Given the description of an element on the screen output the (x, y) to click on. 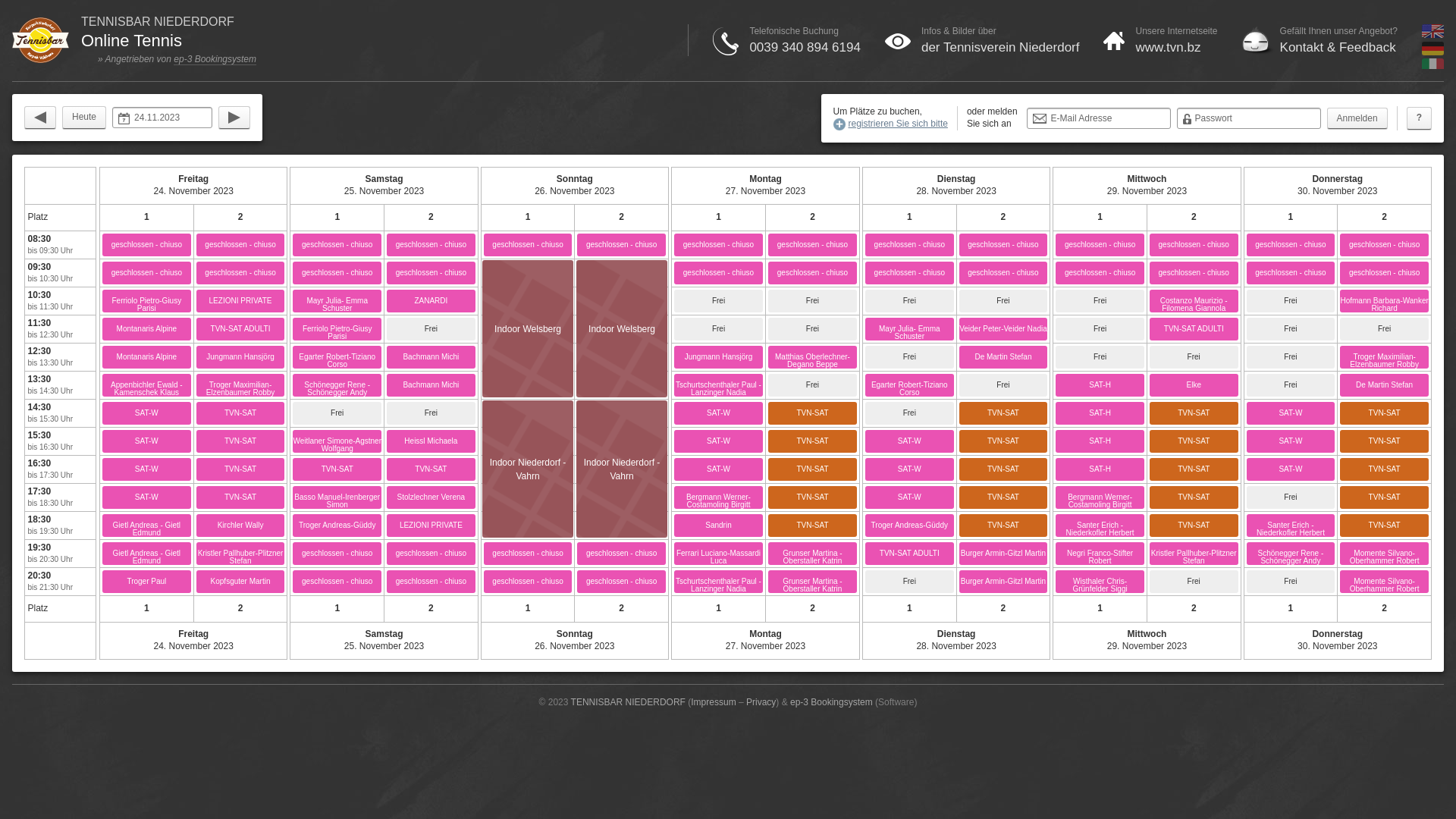
Bachmann Michi Element type: text (430, 384)
ep-3 Bookingsystem Element type: text (831, 701)
geschlossen - chiuso Element type: text (1003, 244)
Indoor Niederdorf - Vahrn Element type: text (527, 469)
TVN-SAT Element type: text (1383, 412)
Stolzlechner Verena Element type: text (430, 497)
Indoor Welsberg Element type: text (621, 356)
SAT-H Element type: text (1099, 384)
Frei Element type: text (1383, 328)
Heissl Michaela Element type: text (430, 440)
TVN-SAT Element type: text (1003, 469)
TVN-SAT Element type: text (1383, 525)
Bergmann Werner-Costamoling Birgitt Element type: text (1099, 497)
Indoor Welsberg Element type: text (527, 272)
geschlossen - chiuso Element type: text (1290, 244)
Indoor Welsberg Element type: text (621, 328)
Sandrin Element type: text (718, 525)
  Element type: text (40, 117)
Frei Element type: text (1290, 356)
Frei Element type: text (909, 412)
TVN-SAT Element type: text (812, 440)
Ferriolo Pietro-Giusy Parisi Element type: text (146, 300)
Indoor Welsberg Element type: text (527, 328)
Heute Element type: text (84, 117)
TVN-SAT Element type: text (1383, 440)
geschlossen - chiuso Element type: text (718, 244)
Mayr Julia- Emma Schuster Element type: text (909, 328)
Frei Element type: text (1290, 497)
TVN-SAT Element type: text (812, 497)
Indoor Welsberg Element type: text (621, 384)
Frei Element type: text (909, 356)
TVN-SAT Element type: text (812, 412)
Frei Element type: text (909, 581)
TENNISBAR NIEDERDORF Element type: text (628, 701)
geschlossen - chiuso Element type: text (240, 272)
Indoor Niederdorf - Vahrn Element type: text (621, 525)
Ferrari Luciano-Massardi Luca Element type: text (718, 553)
geschlossen - chiuso Element type: text (1193, 272)
Frei Element type: text (1290, 384)
Frei Element type: text (812, 300)
Frei Element type: text (1290, 581)
TVN-SAT Element type: text (240, 440)
Egarter Robert-Tiziano Corso Element type: text (336, 356)
TVN-SAT Element type: text (1383, 497)
registrieren Sie sich bitte Element type: text (889, 124)
TVN-SAT Element type: text (1003, 525)
TVN-SAT ADULTI Element type: text (1193, 328)
Indoor Welsberg Element type: text (621, 300)
SAT-H Element type: text (1099, 440)
geschlossen - chiuso Element type: text (240, 244)
geschlossen - chiuso Element type: text (527, 581)
geschlossen - chiuso Element type: text (909, 244)
geschlossen - chiuso Element type: text (430, 244)
Frei Element type: text (1290, 300)
Bergmann Werner-Costamoling Birgitt Element type: text (718, 497)
Frei Element type: text (430, 328)
De Martin Stefan Element type: text (1383, 384)
Basso Manuel-Irenberger Simon Element type: text (336, 497)
  Element type: text (234, 117)
TVN-SAT Element type: text (1193, 497)
Appenbichler Ewald - Kamenschek Klaus Element type: text (146, 384)
Tschurtschenthaler Paul - Lanzinger Nadia Element type: text (718, 384)
SAT-W Element type: text (1290, 440)
Troger Maximilian-Elzenbaumer Robby Element type: text (1383, 356)
Gietl Andreas - Gietl Edmund Element type: text (146, 553)
SAT-W Element type: text (718, 412)
TVN-SAT Element type: text (1193, 525)
ep-3 Bookingsystem Element type: text (214, 59)
TVN-SAT Element type: text (1383, 469)
Kristler Pallhuber-Plitzner Stefan Element type: text (240, 553)
Frei Element type: text (1003, 384)
Kristler Pallhuber-Plitzner Stefan Element type: text (1193, 553)
Frei Element type: text (812, 384)
TVN-SAT Element type: text (240, 497)
Frei Element type: text (718, 300)
Indoor Niederdorf - Vahrn Element type: text (527, 468)
geschlossen - chiuso Element type: text (1099, 272)
geschlossen - chiuso Element type: text (812, 244)
Frei Element type: text (1099, 356)
Frei Element type: text (1003, 300)
geschlossen - chiuso Element type: text (527, 553)
Elke Element type: text (1193, 384)
SAT-W Element type: text (1290, 412)
Indoor Niederdorf - Vahrn Element type: text (527, 440)
Negri Franco-Stifter Robert Element type: text (1099, 553)
TVN-SAT ADULTI Element type: text (909, 553)
TVN-SAT Element type: text (240, 469)
geschlossen - chiuso Element type: text (1099, 244)
SAT-W Element type: text (146, 440)
TVN-SAT Element type: text (1193, 469)
SAT-H Element type: text (1099, 412)
Troger Maximilian-Elzenbaumer Robby Element type: text (240, 384)
Anzeigen Element type: text (28, 10)
TVN-SAT Element type: text (1193, 440)
Frei Element type: text (1099, 328)
Frei Element type: text (1290, 328)
Indoor Niederdorf - Vahrn Element type: text (621, 468)
Santer Erich - Niederkofler Herbert Element type: text (1290, 525)
Frei Element type: text (909, 300)
De Martin Stefan Element type: text (1003, 356)
Indoor Niederdorf - Vahrn Element type: text (527, 497)
Indoor Welsberg Element type: text (527, 384)
geschlossen - chiuso Element type: text (1290, 272)
Kopfsguter Martin Element type: text (240, 581)
Frei Element type: text (718, 328)
Frei Element type: text (1193, 356)
SAT-H Element type: text (1099, 469)
TVN-SAT Element type: text (1003, 497)
geschlossen - chiuso Element type: text (1193, 244)
Indoor Niederdorf - Vahrn Element type: text (621, 469)
SAT-W Element type: text (146, 469)
Frei Element type: text (336, 412)
TVN-SAT Element type: text (336, 469)
Kirchler Wally Element type: text (240, 525)
TVN-SAT Element type: text (430, 469)
Indoor Niederdorf - Vahrn Element type: text (621, 440)
SAT-W Element type: text (718, 440)
Momente Silvano-Oberhammer Robert Element type: text (1383, 553)
Gietl Andreas - Gietl Edmund Element type: text (146, 525)
www.tvn.bz Element type: text (1167, 47)
geschlossen - chiuso Element type: text (1383, 272)
geschlossen - chiuso Element type: text (336, 553)
SAT-W Element type: text (909, 497)
geschlossen - chiuso Element type: text (336, 272)
geschlossen - chiuso Element type: text (909, 272)
SAT-W Element type: text (909, 469)
0039 340 894 6194 Element type: text (804, 47)
Frei Element type: text (812, 328)
Privacy Element type: text (760, 701)
LEZIONI PRIVATE Element type: text (240, 300)
Indoor Welsberg Element type: text (527, 356)
Troger Paul Element type: text (146, 581)
Impressum Element type: text (712, 701)
Montanaris Alpine Element type: text (146, 356)
? Element type: text (1418, 117)
Grunser Martina - Oberstaller Katrin Element type: text (812, 581)
Indoor Niederdorf - Vahrn Element type: text (621, 497)
SAT-W Element type: text (146, 412)
ZANARDI Element type: text (430, 300)
SAT-W Element type: text (718, 469)
TVN-SAT Element type: text (812, 525)
Tschurtschenthaler Paul - Lanzinger Nadia Element type: text (718, 581)
geschlossen - chiuso Element type: text (146, 244)
geschlossen - chiuso Element type: text (1383, 244)
Bachmann Michi Element type: text (430, 356)
Indoor Niederdorf - Vahrn Element type: text (527, 525)
Burger Armin-Gitzl Martin Element type: text (1003, 581)
Indoor Niederdorf - Vahrn Element type: text (621, 412)
Grunser Martina - Oberstaller Katrin Element type: text (812, 553)
SAT-W Element type: text (909, 440)
TVN-SAT Element type: text (1003, 440)
Hofmann Barbara-Wanker Richard Element type: text (1383, 300)
Momente Silvano-Oberhammer Robert Element type: text (1383, 581)
Frei Element type: text (1193, 581)
TVN-SAT Element type: text (812, 469)
English Element type: hover (1432, 34)
geschlossen - chiuso Element type: text (621, 581)
geschlossen - chiuso Element type: text (430, 581)
Kontakt & Feedback Element type: text (1338, 47)
Weitlaner Simone-Agstner Wolfgang Element type: text (336, 440)
geschlossen - chiuso Element type: text (718, 272)
geschlossen - chiuso Element type: text (527, 244)
TVN-SAT Element type: text (240, 412)
Santer Erich - Niederkofler Herbert Element type: text (1099, 525)
geschlossen - chiuso Element type: text (336, 244)
geschlossen - chiuso Element type: text (621, 244)
geschlossen - chiuso Element type: text (621, 553)
Mayr Julia- Emma Schuster Element type: text (336, 300)
Deutsch Element type: hover (1432, 52)
geschlossen - chiuso Element type: text (812, 272)
geschlossen - chiuso Element type: text (430, 553)
Indoor Welsberg Element type: text (527, 328)
Indoor Welsberg Element type: text (527, 300)
TVN-SAT ADULTI Element type: text (240, 328)
Burger Armin-Gitzl Martin Element type: text (1003, 553)
Indoor Welsberg Element type: text (621, 328)
Montanaris Alpine Element type: text (146, 328)
Italiano Element type: hover (1432, 69)
Frei Element type: text (430, 412)
Indoor Welsberg Element type: text (621, 272)
SAT-W Element type: text (146, 497)
TVN-SAT Element type: text (1003, 412)
der Tennisverein Niederdorf Element type: text (1000, 47)
geschlossen - chiuso Element type: text (336, 581)
TVN-SAT Element type: text (1193, 412)
Veider Peter-Veider Nadia Element type: text (1003, 328)
geschlossen - chiuso Element type: text (430, 272)
geschlossen - chiuso Element type: text (1003, 272)
LEZIONI PRIVATE Element type: text (430, 525)
Ferriolo Pietro-Giusy Parisi Element type: text (336, 328)
Frei Element type: text (1099, 300)
Matthias Oberlechner-Degano Beppe Element type: text (812, 356)
Costanzo Maurizio - Filomena Giannola Element type: text (1193, 300)
Egarter Robert-Tiziano Corso Element type: text (909, 384)
Anmelden Element type: text (1357, 117)
geschlossen - chiuso Element type: text (146, 272)
SAT-W Element type: text (1290, 469)
Indoor Niederdorf - Vahrn Element type: text (527, 412)
